Given the description of an element on the screen output the (x, y) to click on. 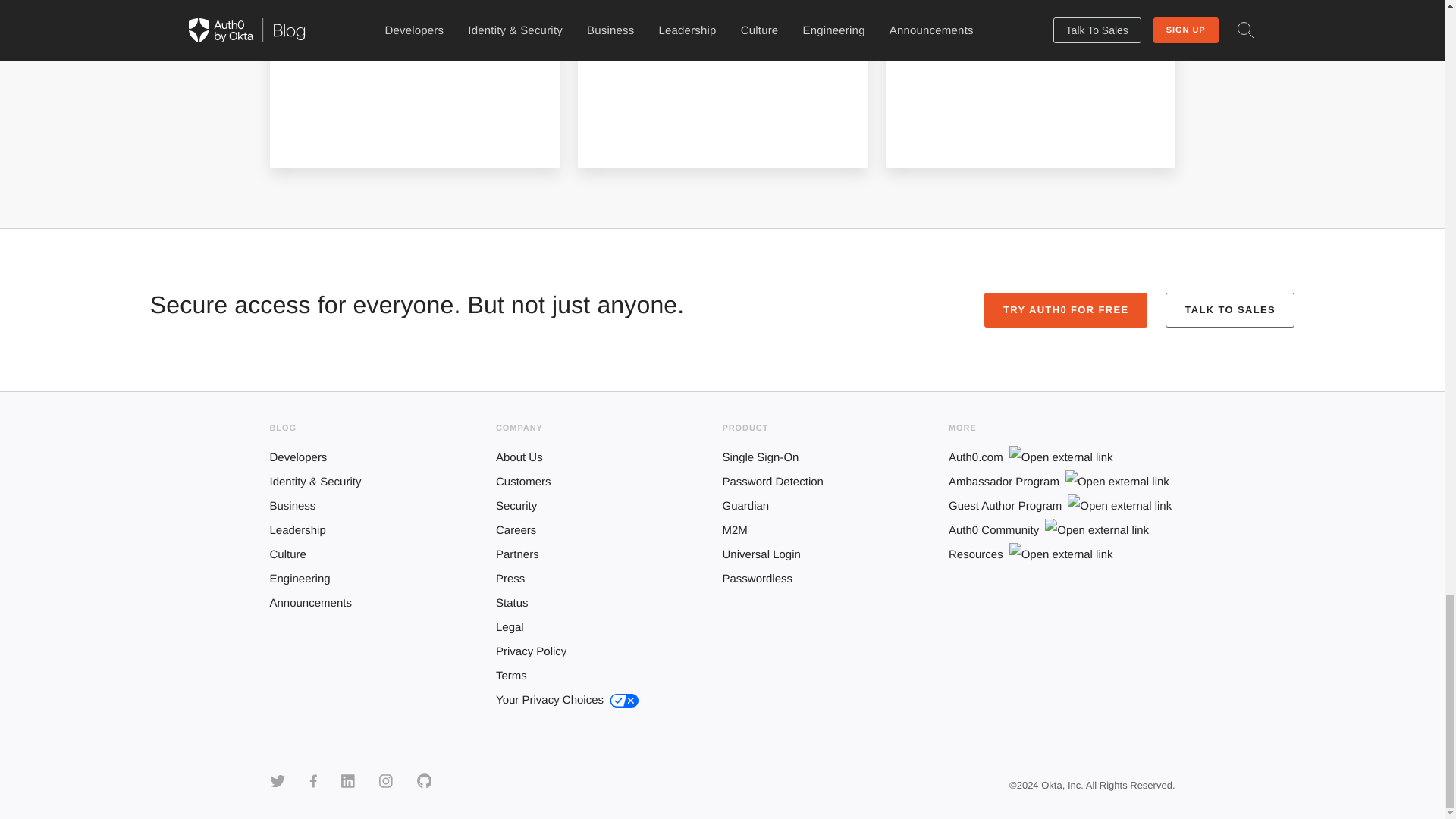
JOIN US (335, 121)
JOIN US (643, 121)
Guest Authors (363, 13)
Ambassadors Program (692, 13)
